Given the description of an element on the screen output the (x, y) to click on. 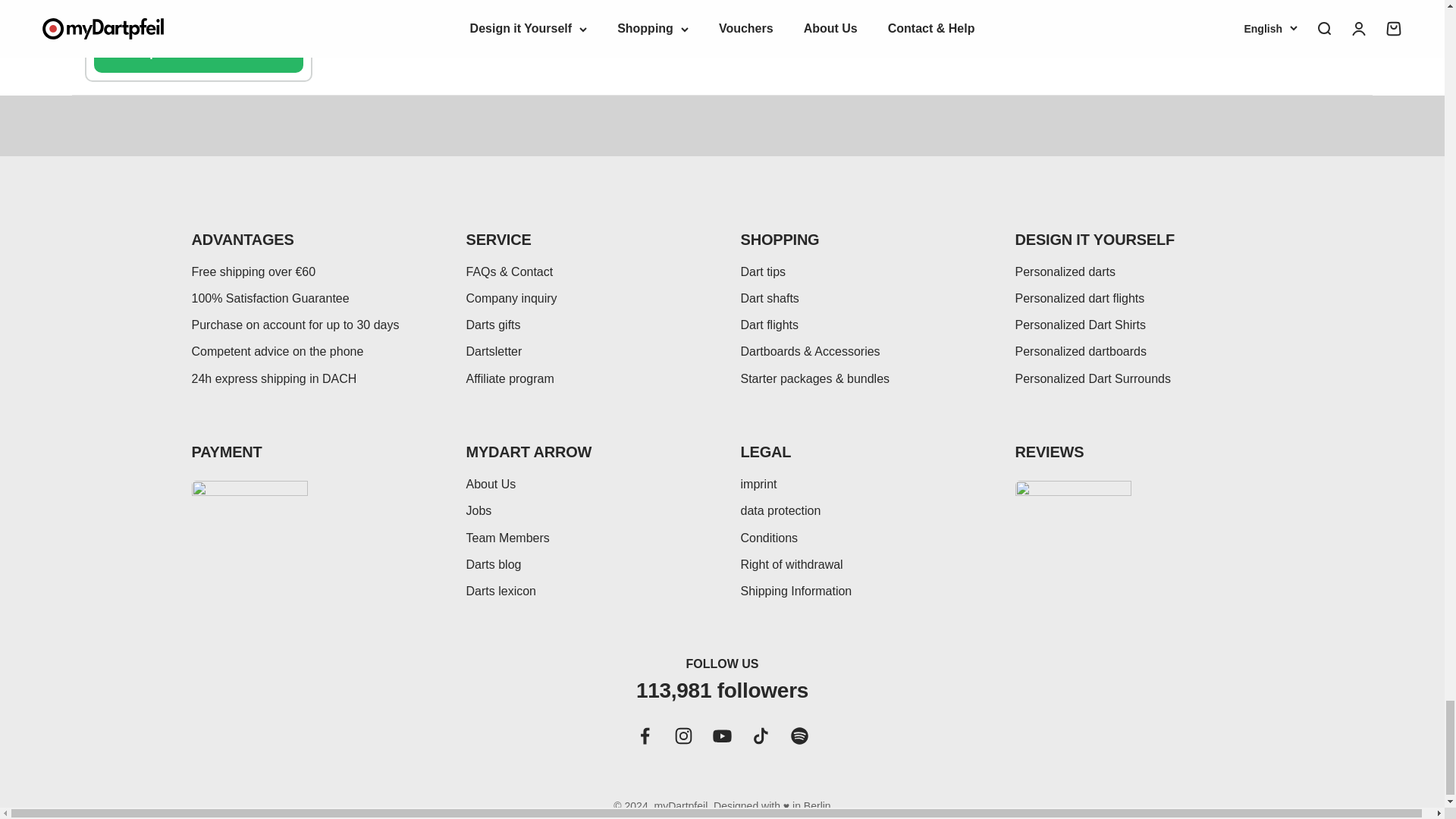
Dart tips (762, 271)
Dartsletter (493, 350)
Dart shafts (768, 297)
Affiliate partner program (509, 378)
Darts gifts for darts players (492, 324)
Dart flights (768, 324)
Company inquiry (510, 297)
